Given the description of an element on the screen output the (x, y) to click on. 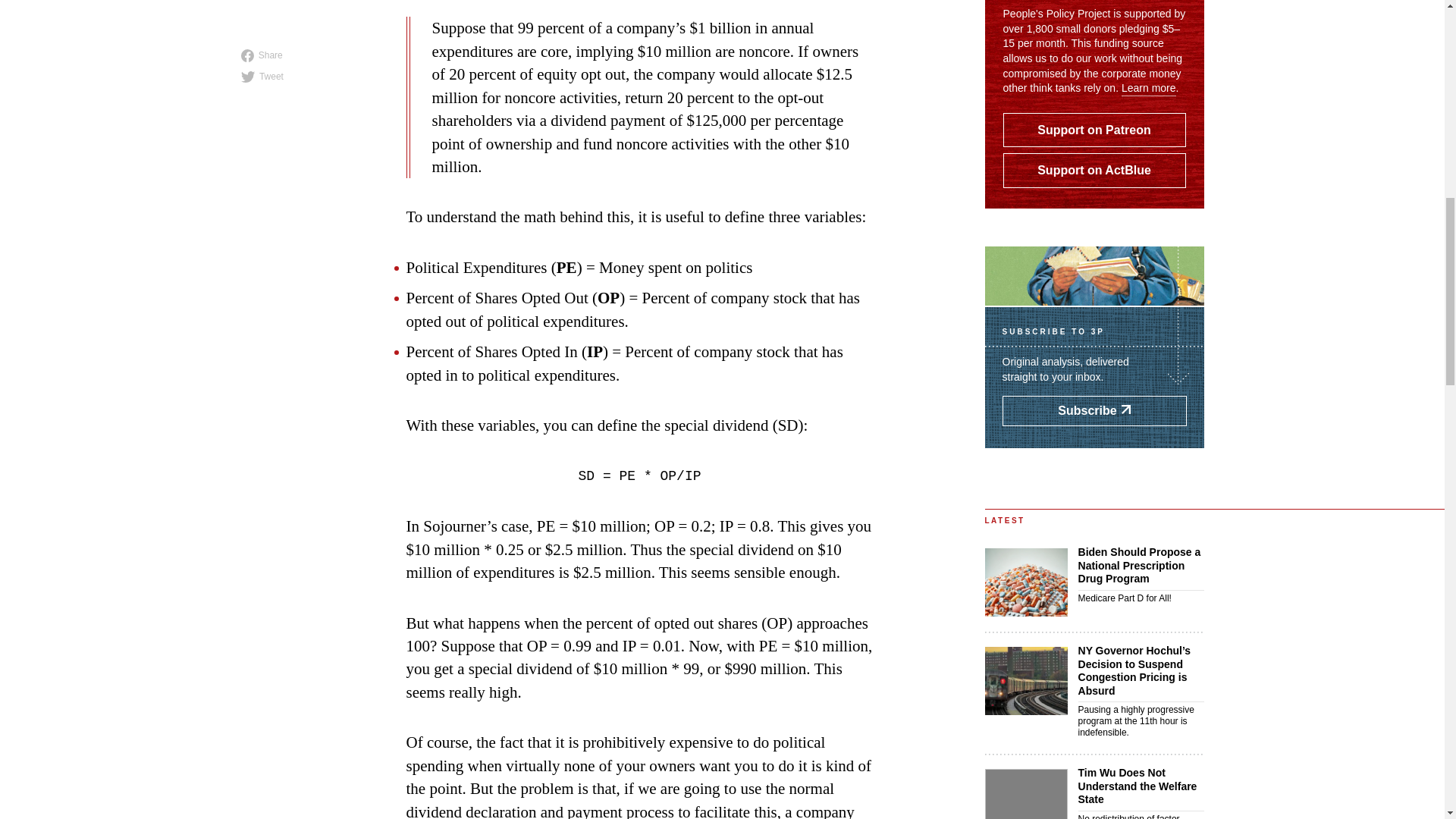
Support on Patreon (1094, 130)
Learn more (309, 409)
Subscribe (1148, 88)
Support on ActBlue (1094, 410)
